Given the description of an element on the screen output the (x, y) to click on. 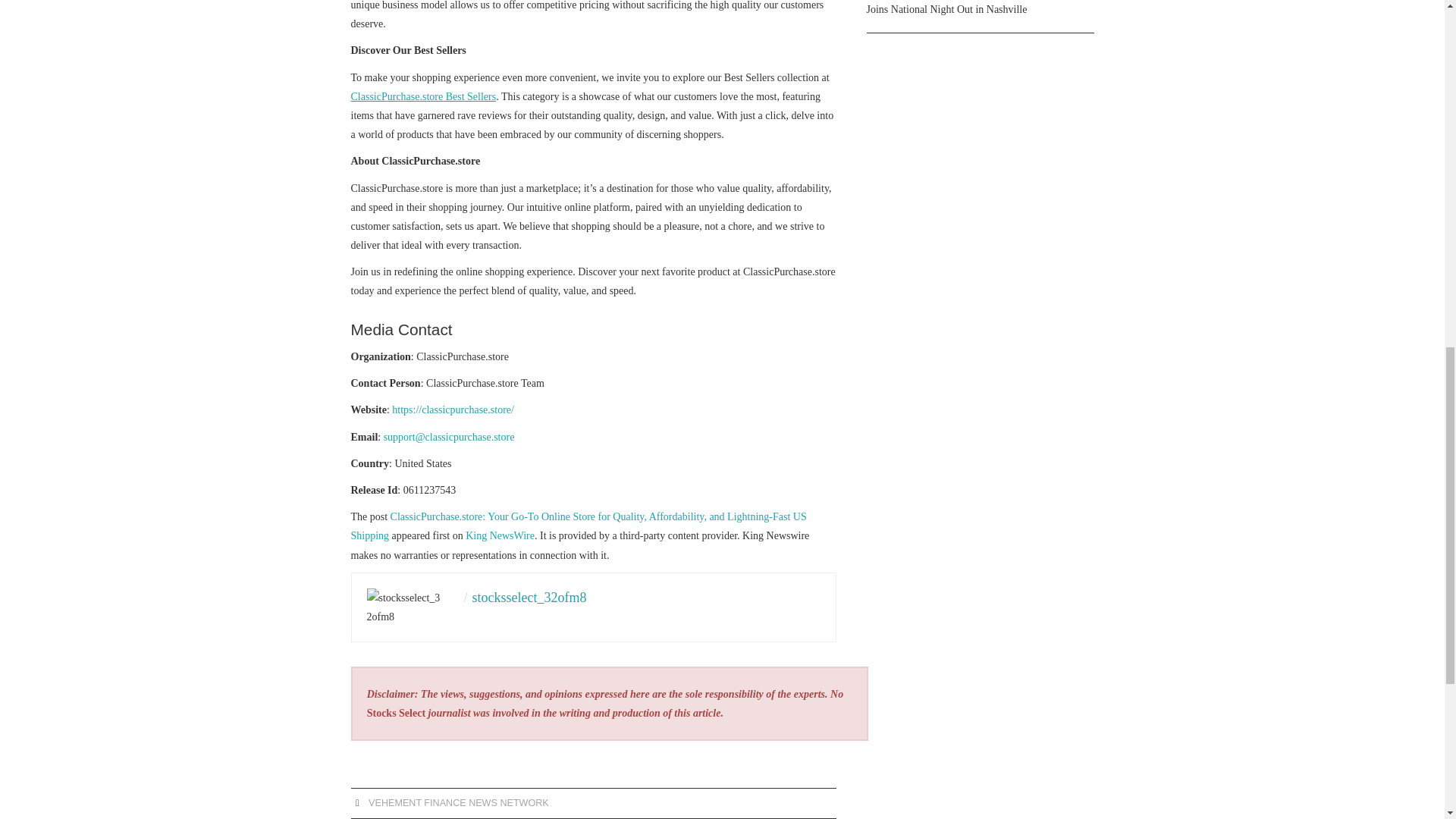
King NewsWire (499, 535)
ClassicPurchase.store Best Sellers (423, 96)
VEHEMENT FINANCE NEWS NETWORK (458, 802)
